Given the description of an element on the screen output the (x, y) to click on. 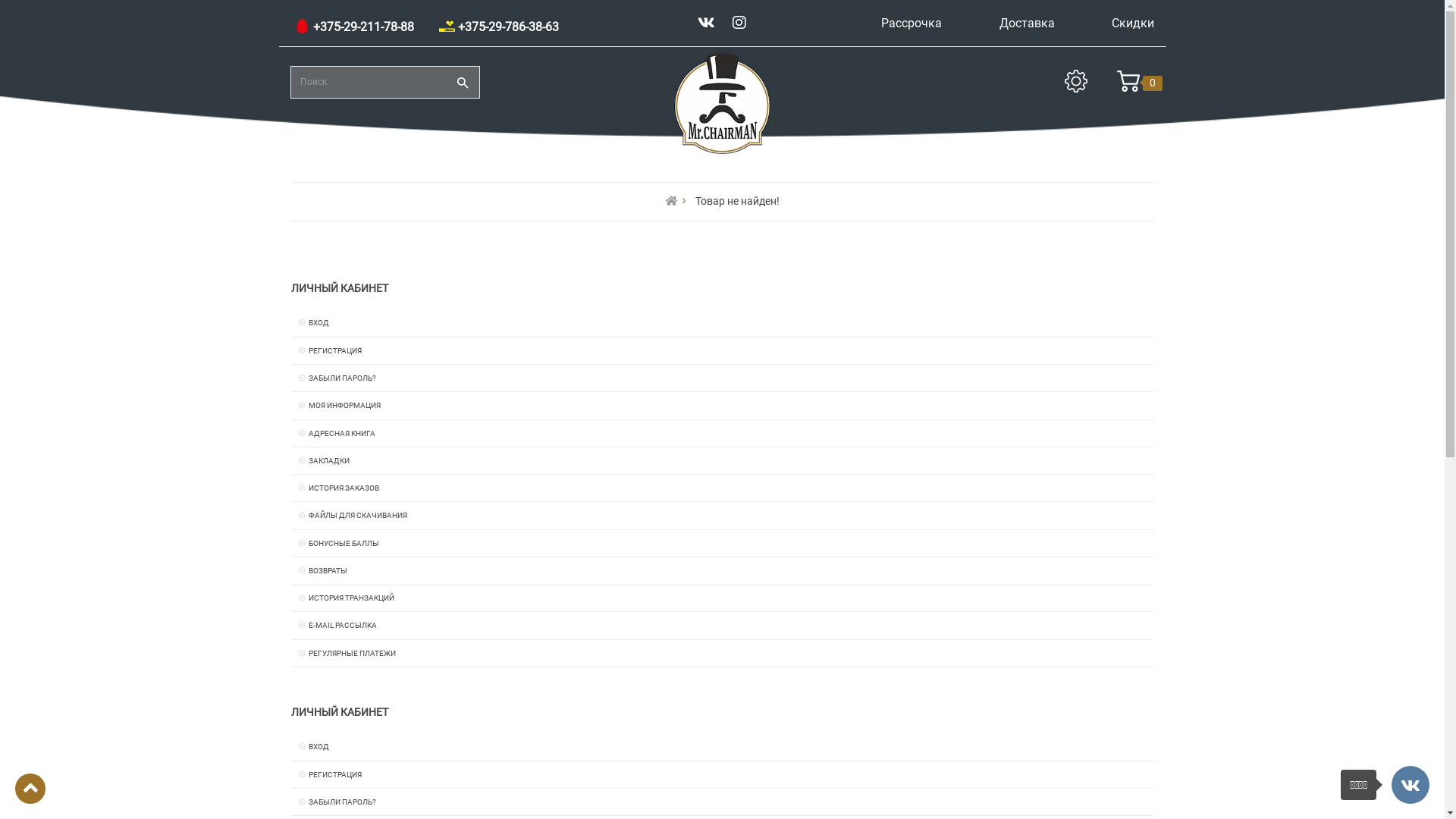
Mr.Chairman Element type: hover (721, 103)
+375-29-211-78-88 Element type: text (354, 26)
0 Element type: text (1127, 83)
